Given the description of an element on the screen output the (x, y) to click on. 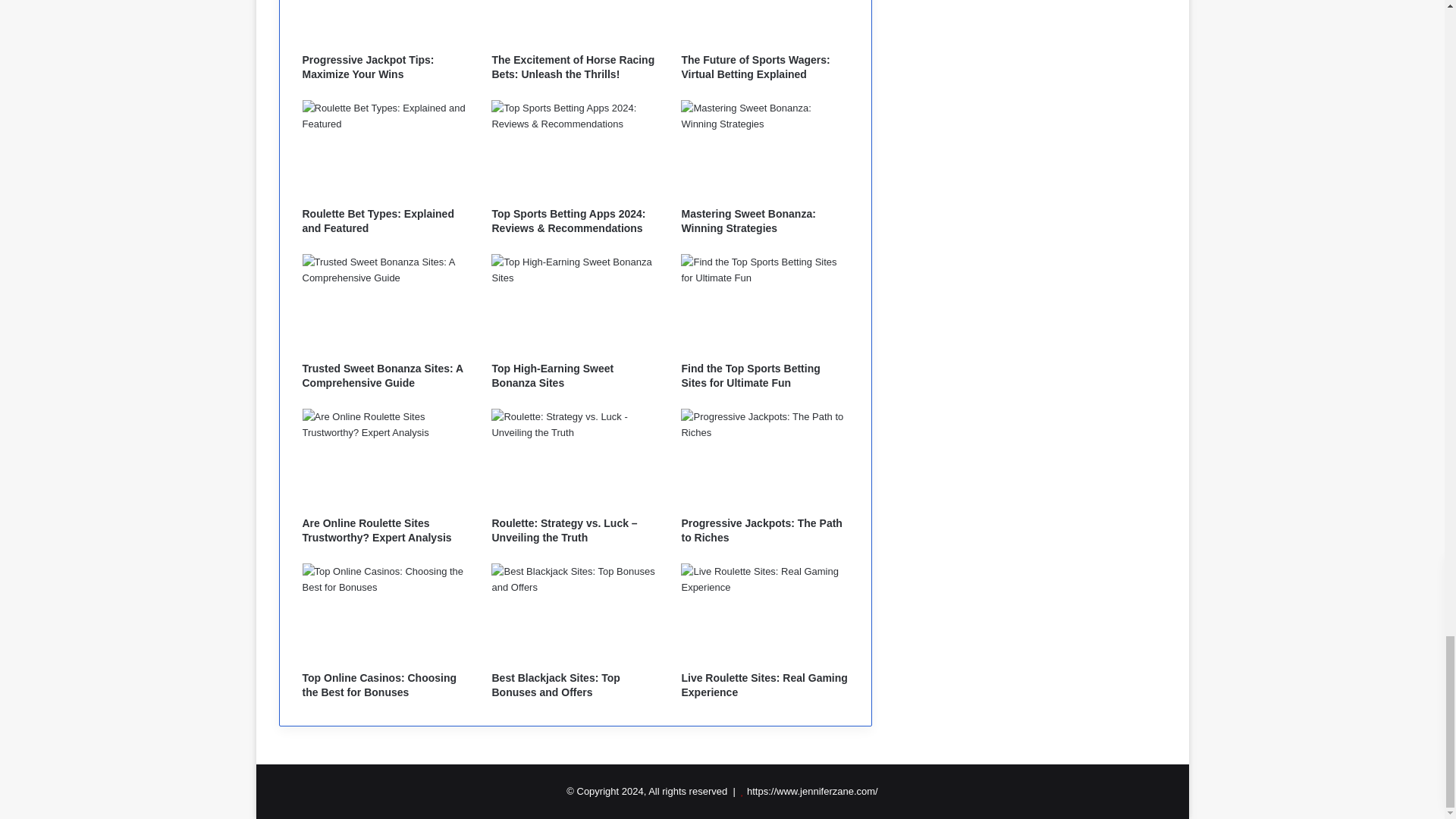
Progressive Jackpot Tips: Maximize Your Wins (367, 66)
